Given the description of an element on the screen output the (x, y) to click on. 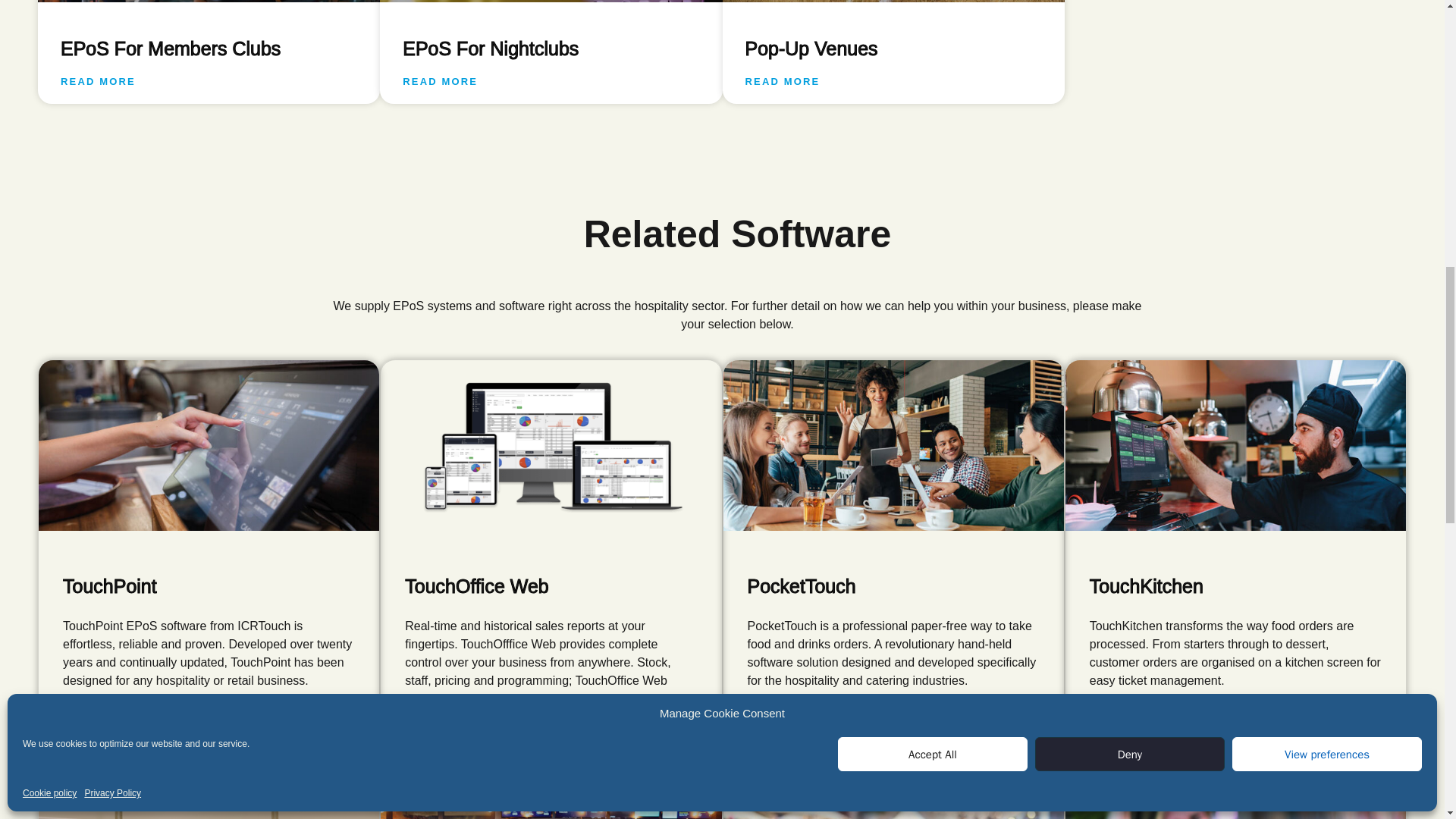
Scroll back to top (1406, 720)
